Given the description of an element on the screen output the (x, y) to click on. 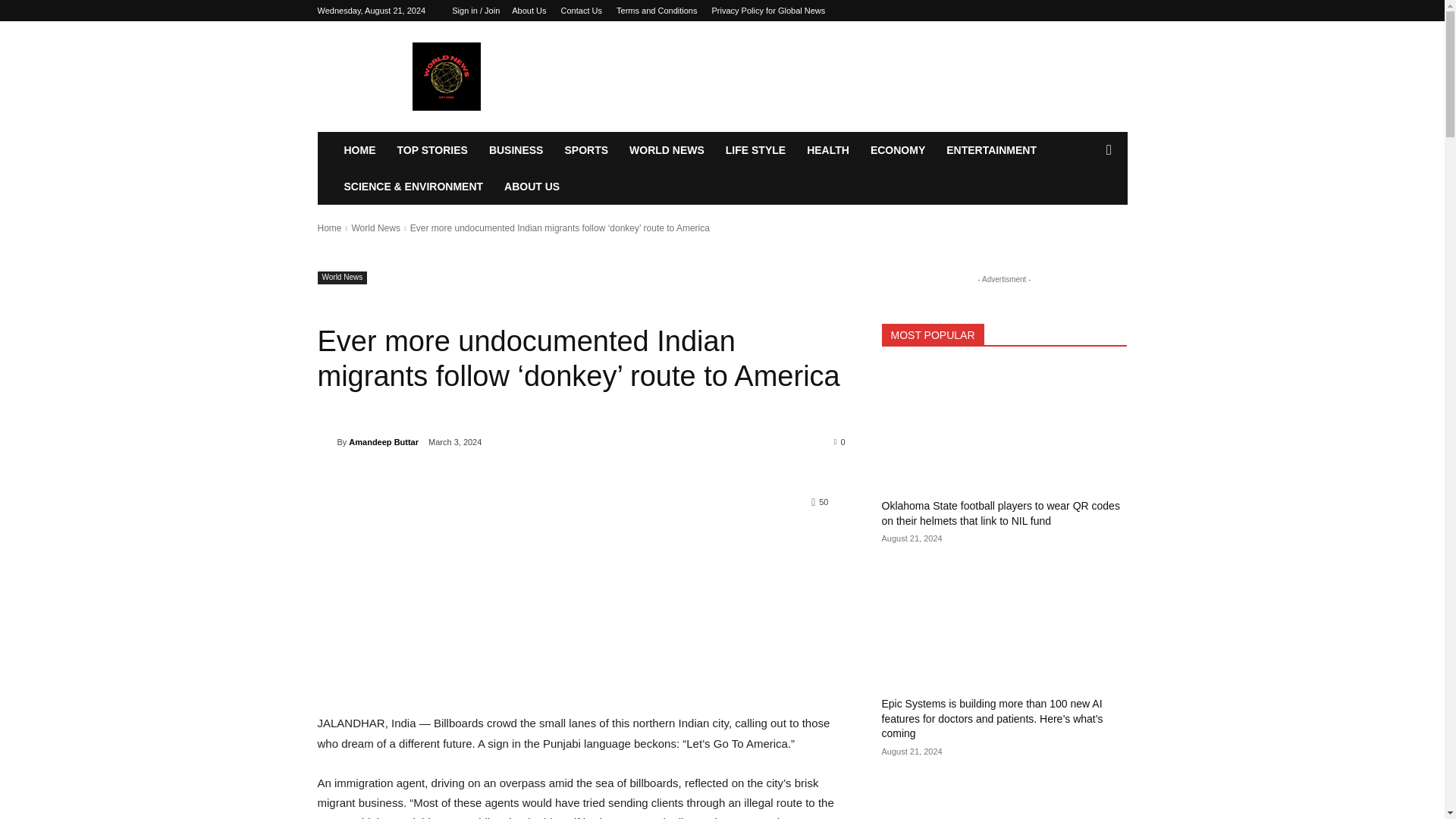
Contact Us (581, 10)
About Us (529, 10)
Terms and Conditions (656, 10)
BUSINESS (516, 149)
TOP STORIES (433, 149)
HOME (360, 149)
Privacy Policy for Global News (768, 10)
